Given the description of an element on the screen output the (x, y) to click on. 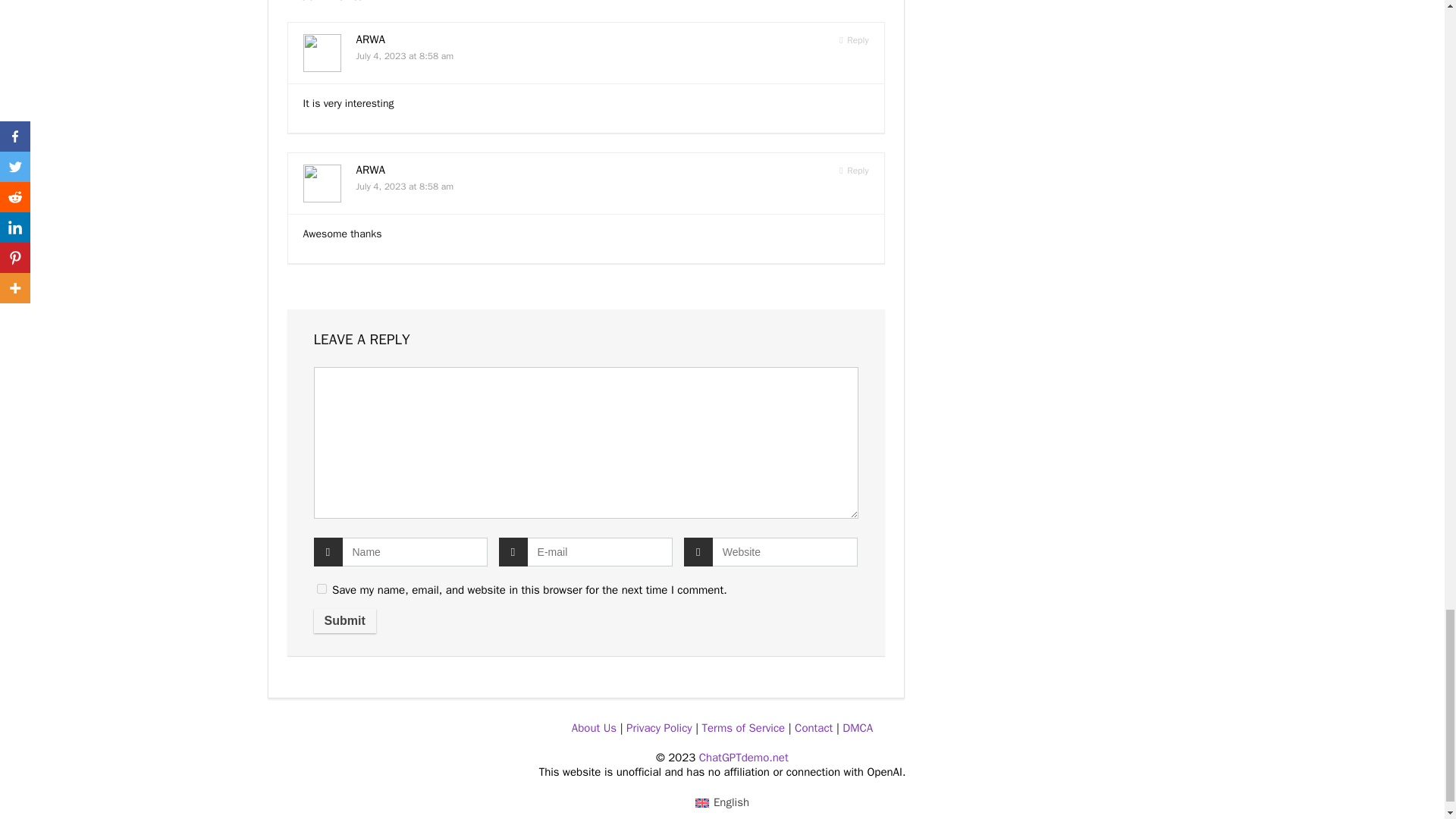
Reply (853, 40)
yes (321, 588)
Submit (344, 621)
July 4, 2023 at 8:58 am (405, 55)
